Given the description of an element on the screen output the (x, y) to click on. 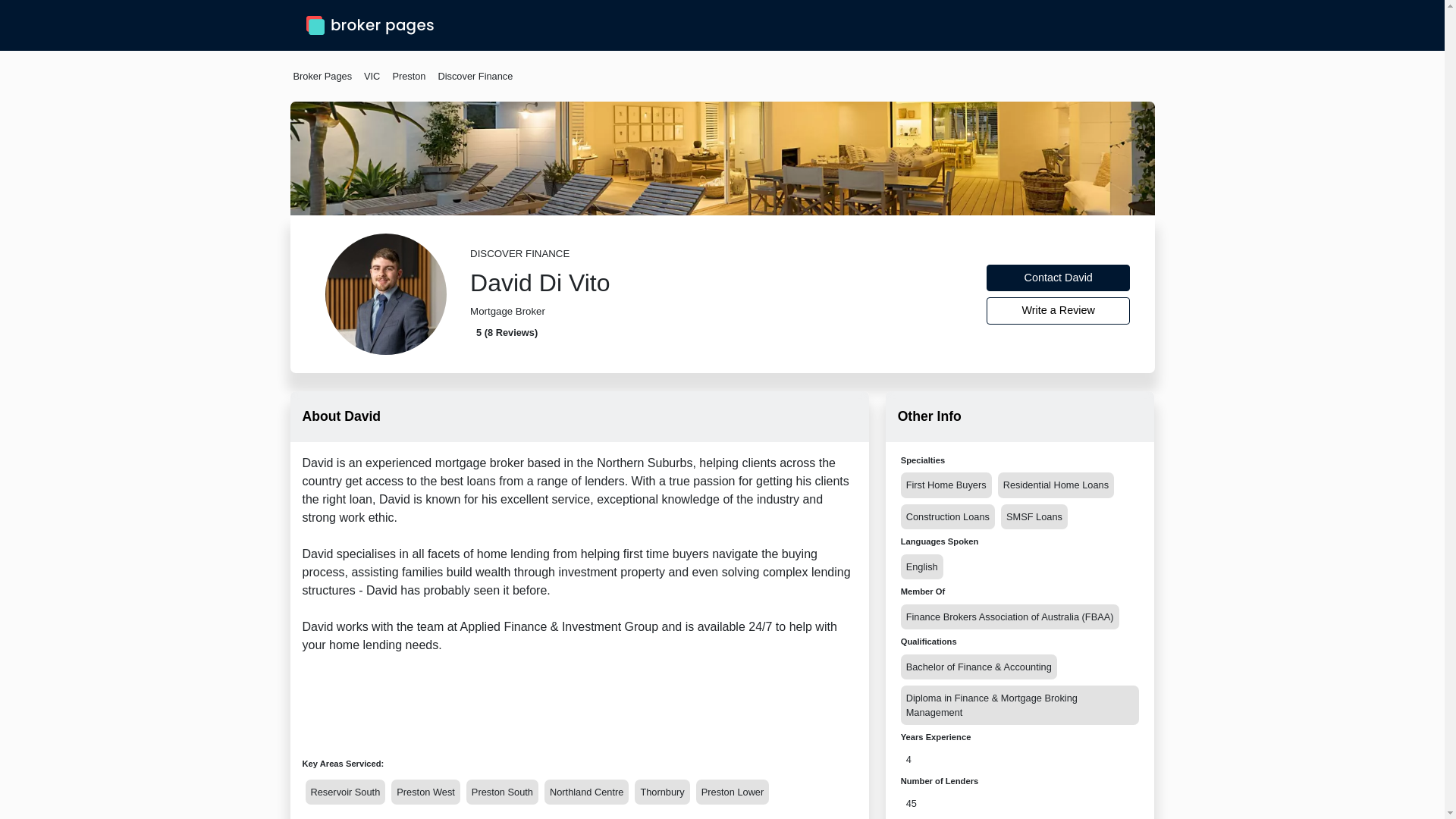
Reservoir South (344, 791)
Preston West (425, 791)
Write a Review (1059, 310)
Contact David (1059, 277)
Preston (408, 75)
Broker Pages (322, 75)
Thornbury (661, 791)
Preston Lower (732, 791)
Northland Centre (586, 791)
Preston South (501, 791)
